Given the description of an element on the screen output the (x, y) to click on. 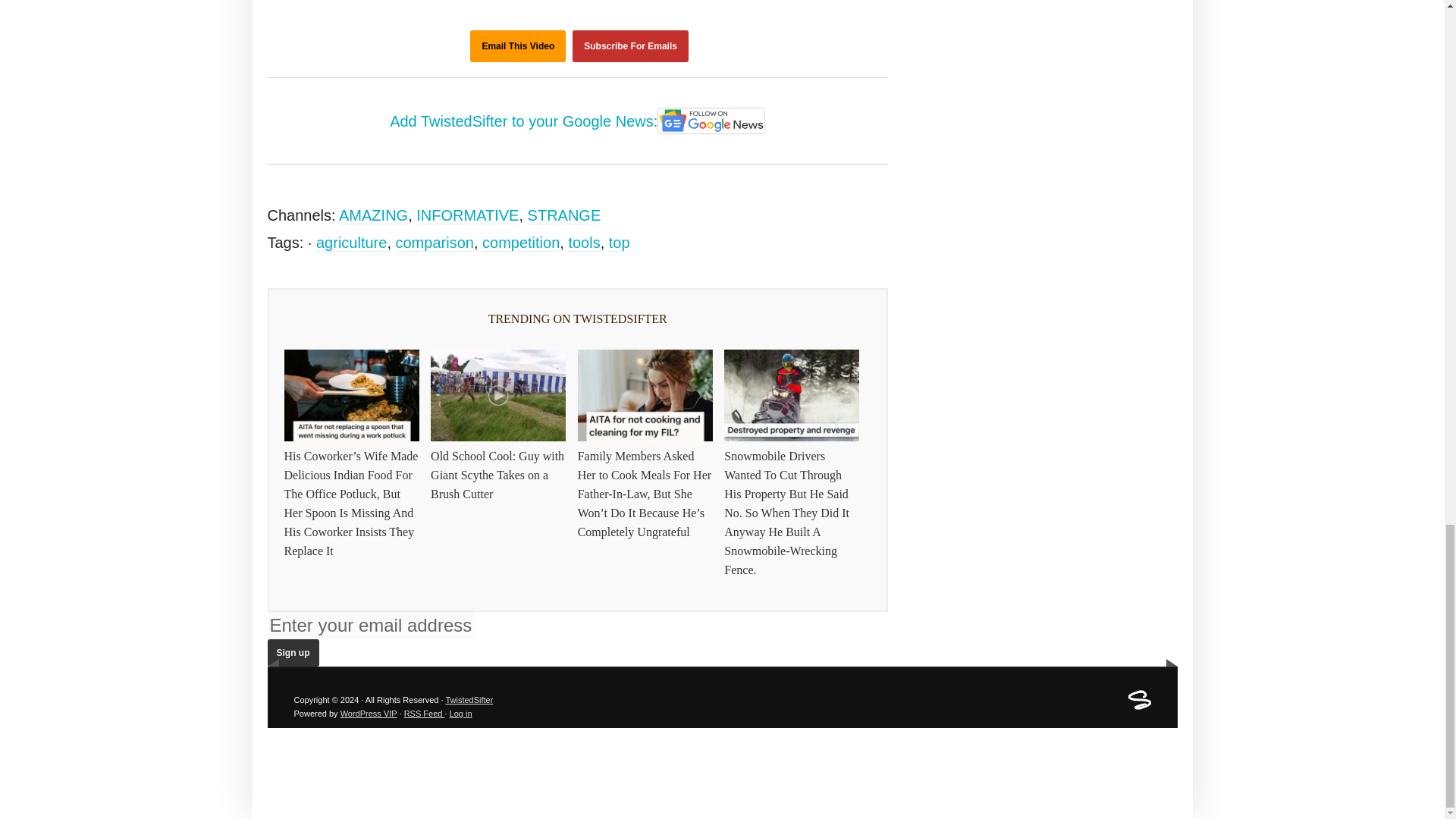
Email This Video (518, 46)
INFORMATIVE (467, 215)
Add TwistedSifter to your Google News: (577, 122)
AMAZING (373, 215)
Google News (711, 121)
Feeling Sifty? (1139, 707)
Sign up (292, 652)
Subscribe For Emails (630, 46)
